Given the description of an element on the screen output the (x, y) to click on. 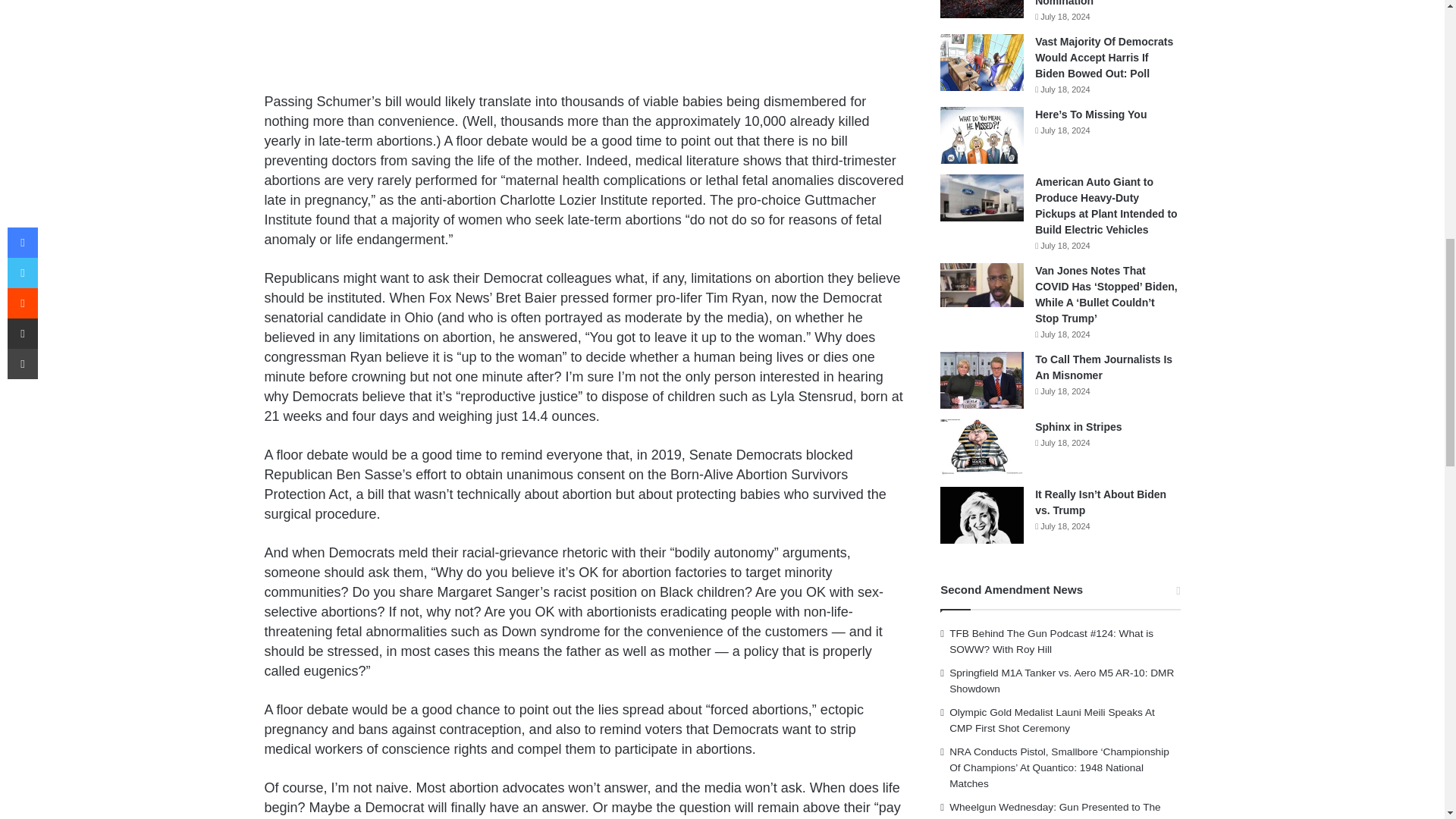
Advertisement (584, 43)
